Given the description of an element on the screen output the (x, y) to click on. 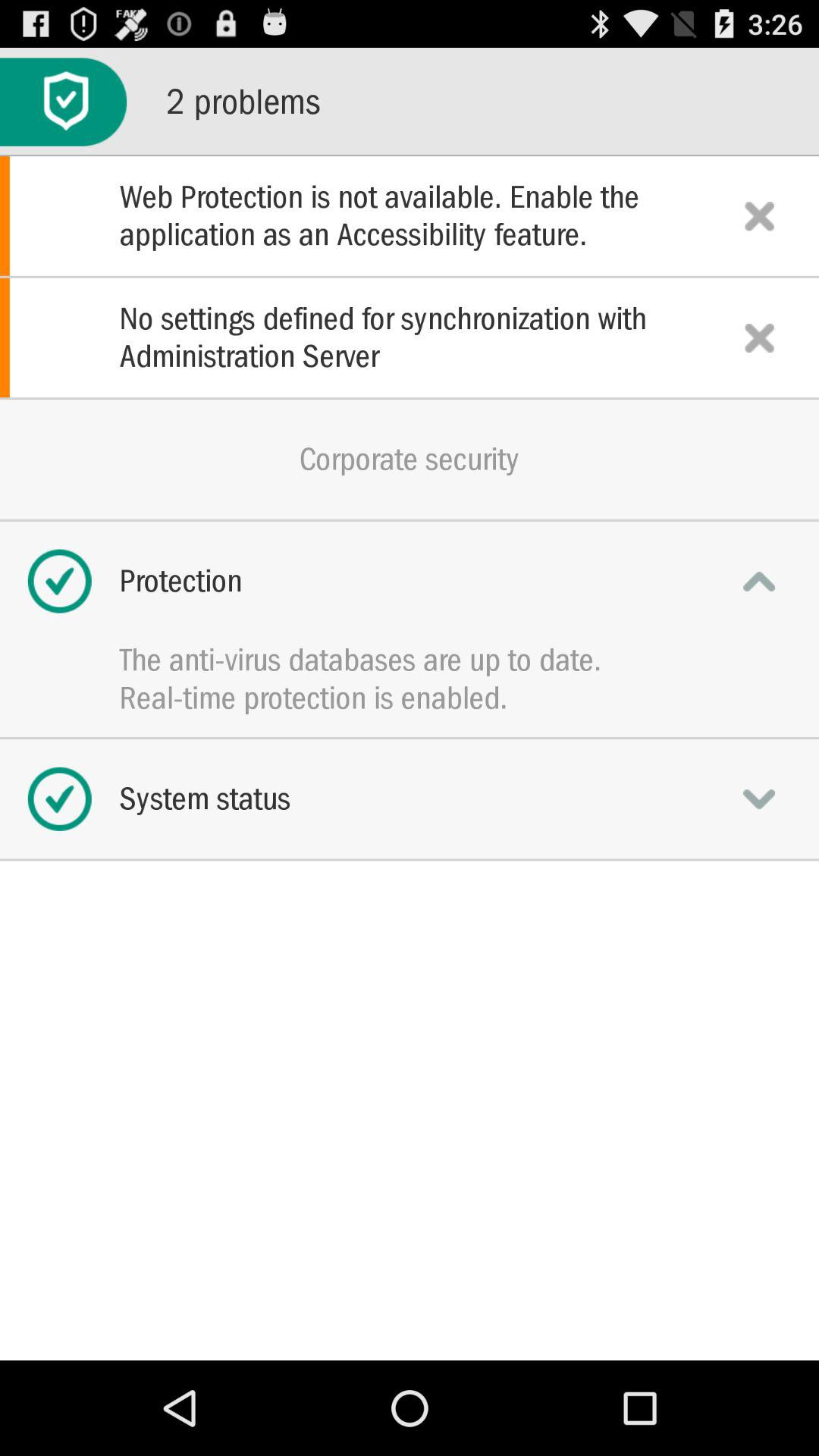
jump until corporate security app (409, 459)
